Given the description of an element on the screen output the (x, y) to click on. 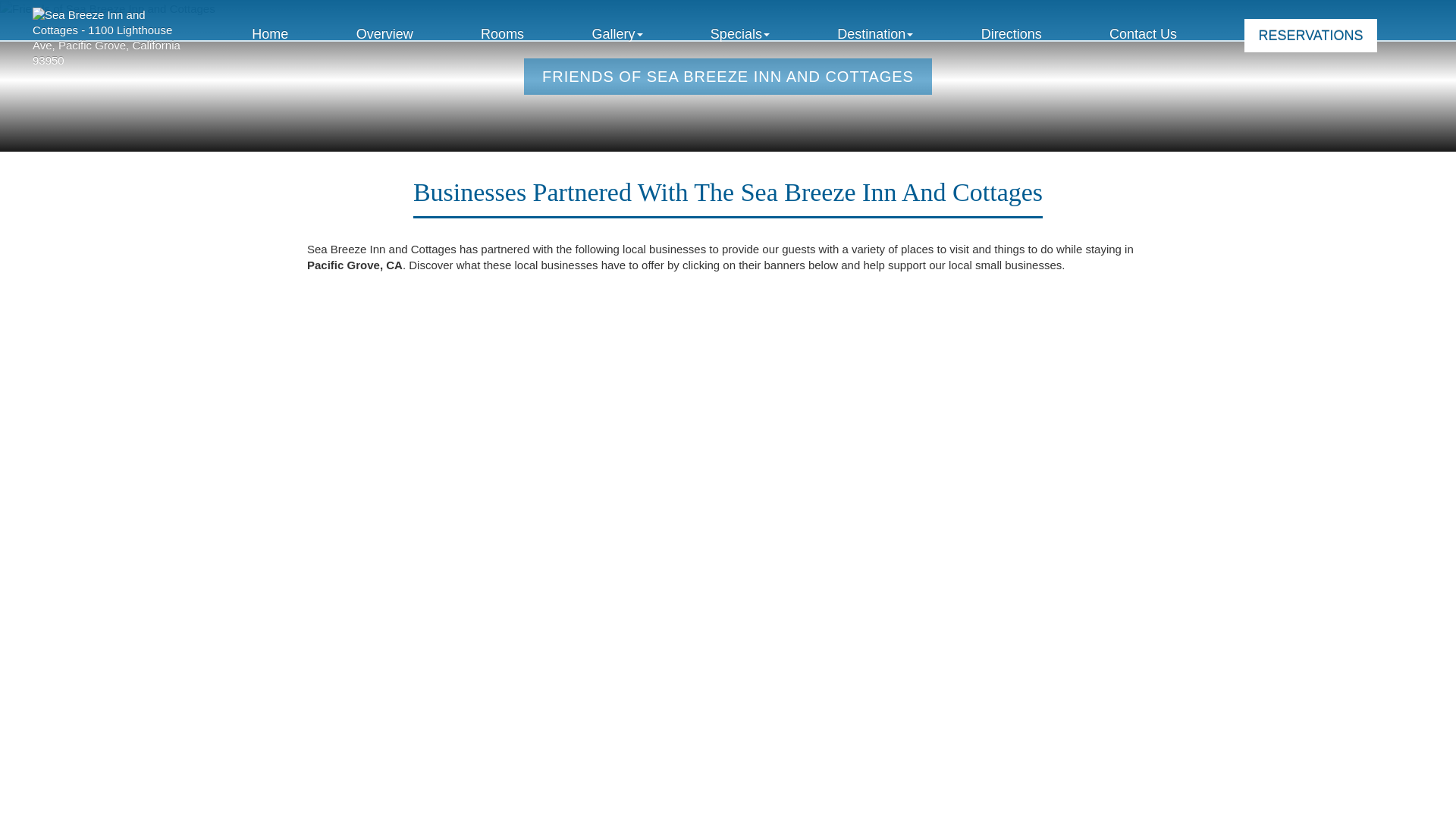
Home (269, 34)
Rooms (502, 34)
Directions (1011, 34)
RESERVATIONS (1309, 35)
Gallery (616, 34)
Gallery (616, 34)
Specials (740, 34)
Destination (874, 34)
Specials (740, 34)
Rooms (502, 34)
Contact Us (1142, 34)
Destination (874, 34)
Home (269, 34)
